Given the description of an element on the screen output the (x, y) to click on. 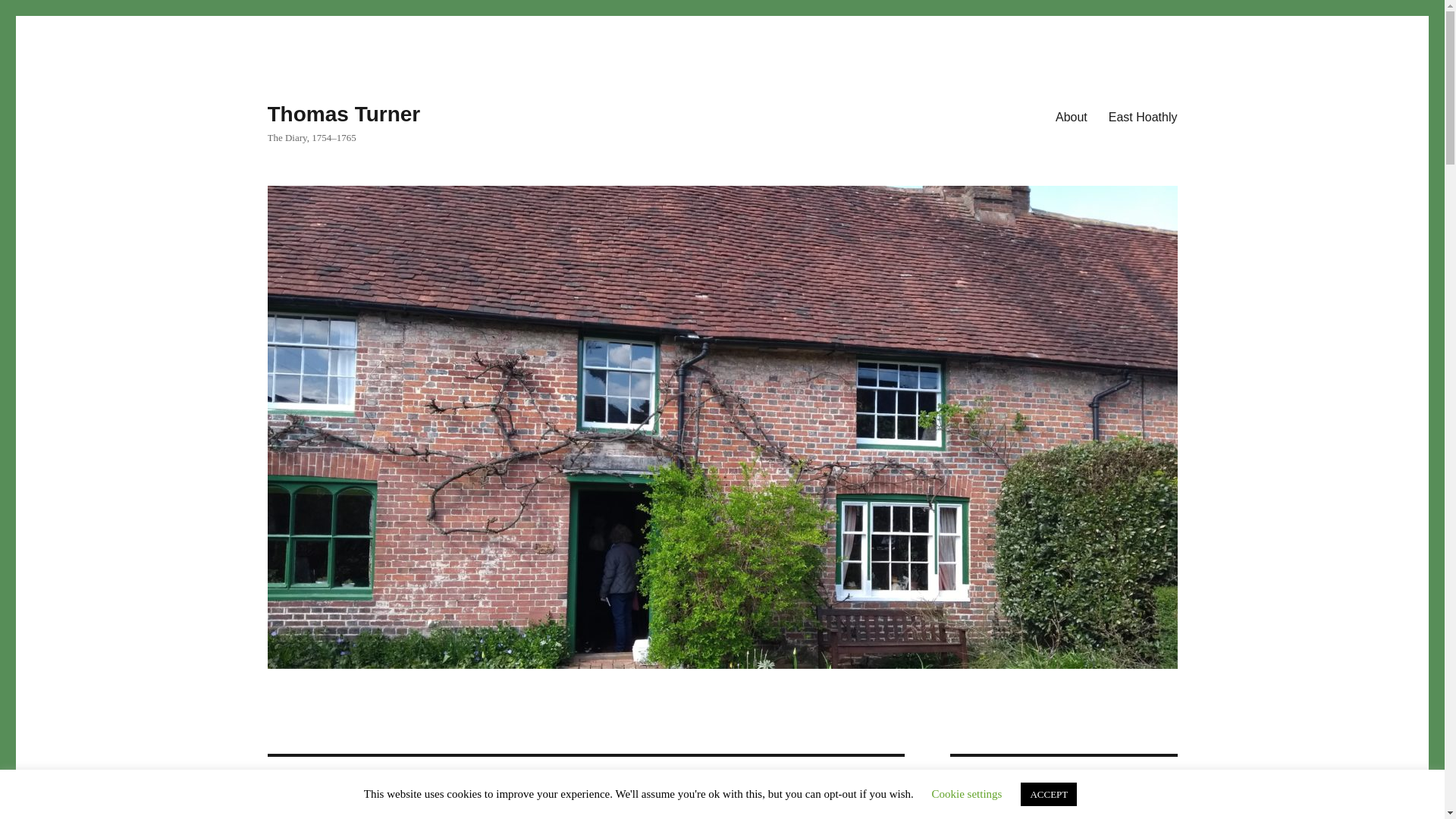
About (1071, 116)
East Hoathly (1142, 116)
Thomas Turner (343, 114)
